Given the description of an element on the screen output the (x, y) to click on. 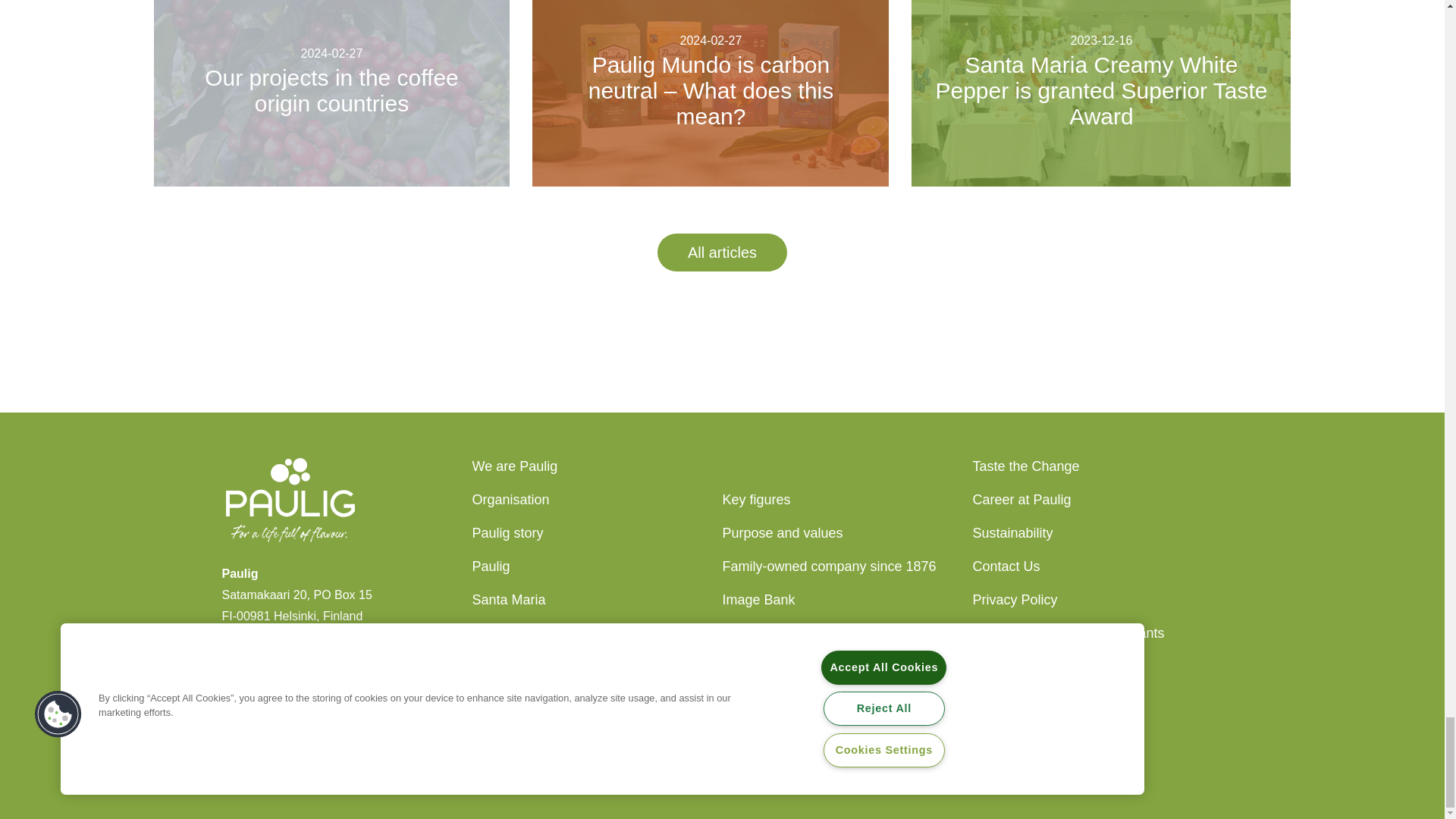
Whistleblowing (1017, 699)
Risenta (494, 632)
Image Bank (758, 599)
